Given the description of an element on the screen output the (x, y) to click on. 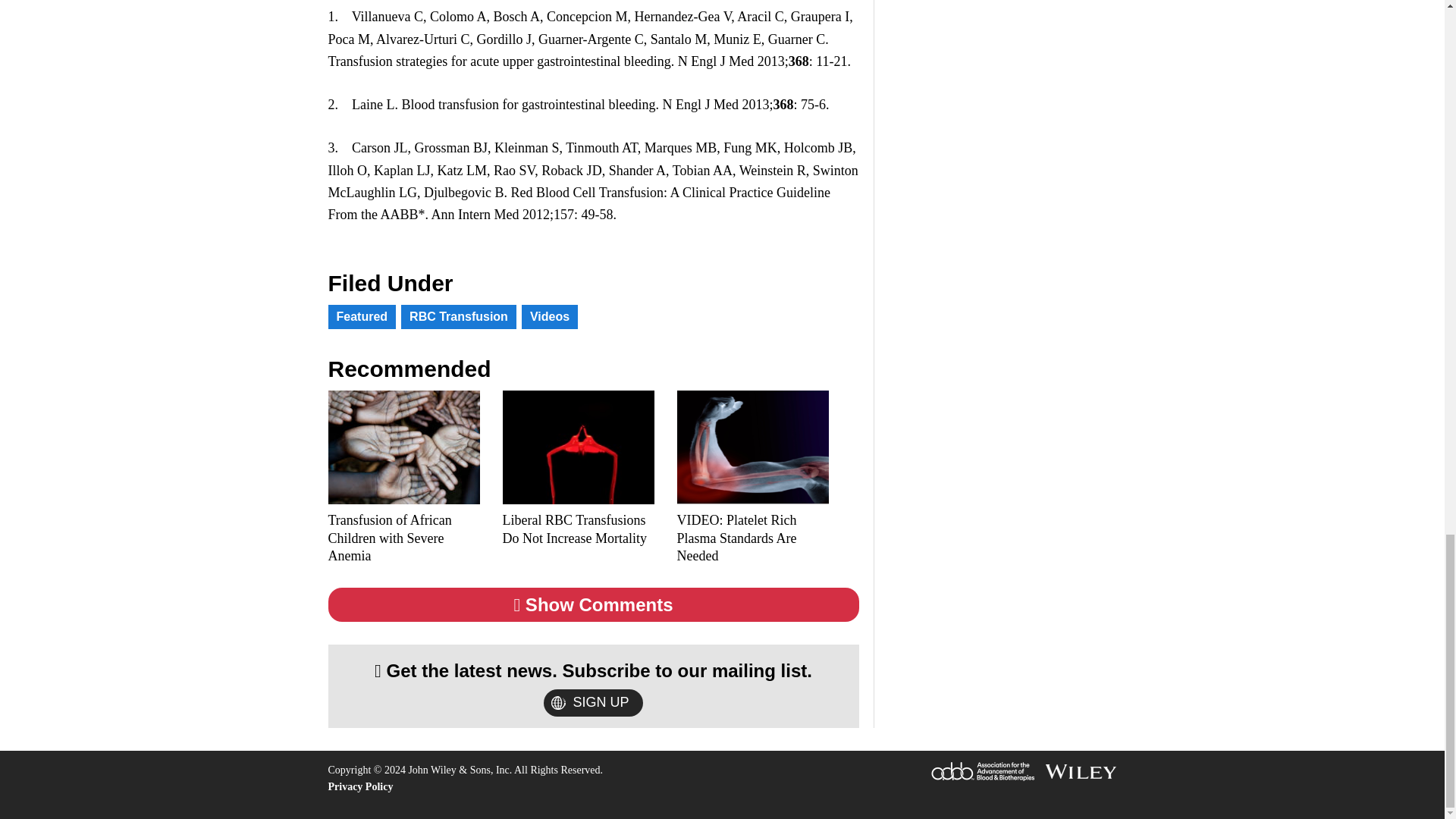
Featured (361, 316)
VIDEO: Platelet Rich Plasma Standards Are Needed (752, 538)
Get the latest news. Subscribe to our mailing list. SIGN UP (593, 685)
Liberal RBC Transfusions Do Not Increase Mortality (577, 529)
Transfusion of African Children with Severe Anemia (403, 538)
RBC Transfusion (458, 316)
Videos (549, 316)
